Given the description of an element on the screen output the (x, y) to click on. 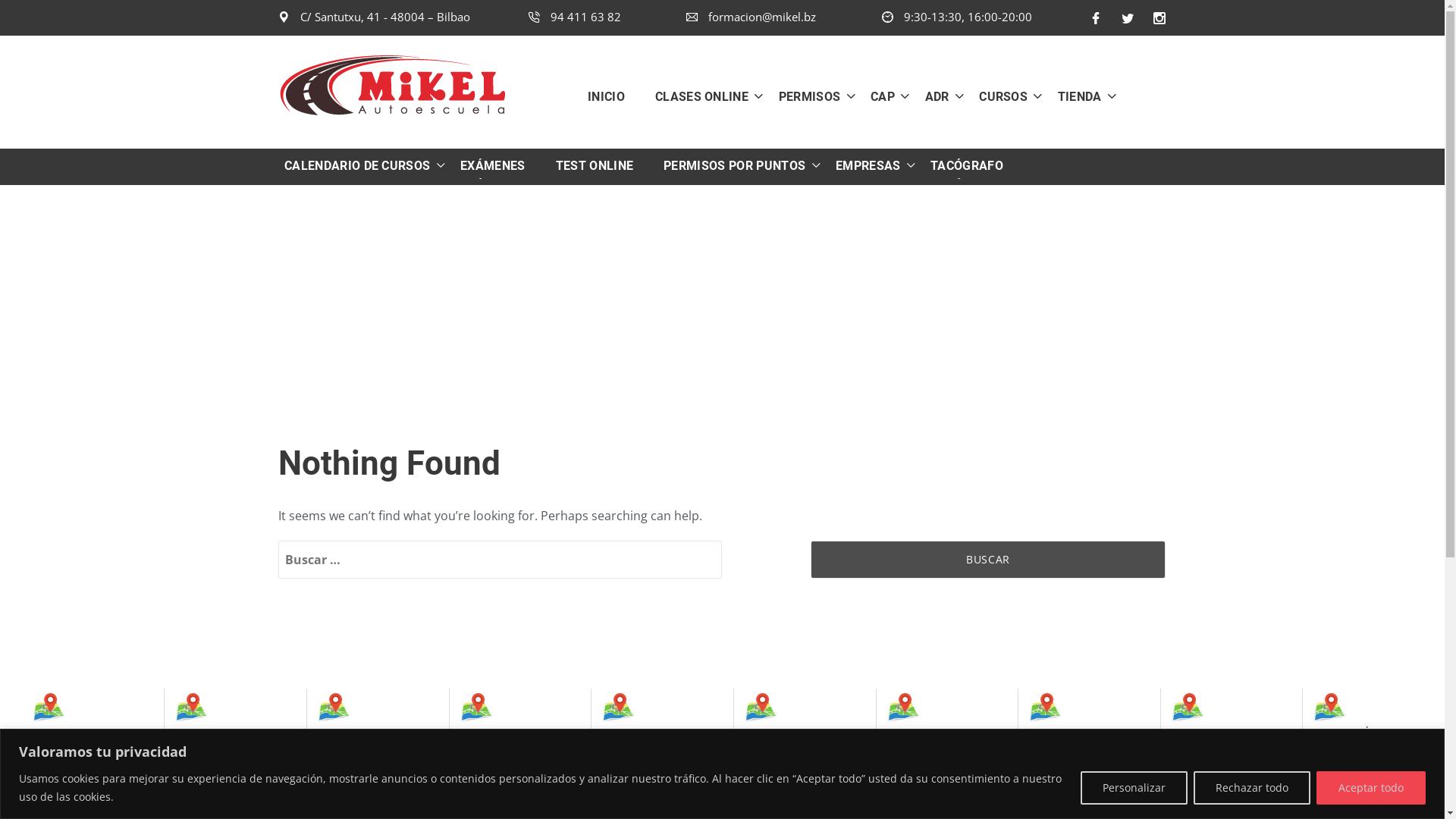
KARMELO
Particular de Arsuaga, 1
Bilbao 48004 Element type: text (224, 739)
944010800 Element type: text (919, 783)
ETXEBARRI
Sabino Arana, 8
Etxebarri 48450 Element type: text (651, 733)
ADR Element type: text (931, 96)
BASAURI
Nagusia, 19
Basauri 48970 Element type: text (793, 733)
TEST ONLINE Element type: text (594, 165)
946018585 Element type: text (634, 783)
944572275 Element type: text (1061, 796)
CAP Element type: text (876, 96)
TXURDINAGA
Txomin Garat, 12
Bilbao 48004 Element type: text (366, 733)
946568989 Element type: text (492, 796)
PERMISOS POR PUNTOS Element type: text (728, 165)
MIRIBILLA
Jardines de Gernika, 3
Bilbao 48003 Element type: text (509, 739)
INICIO Element type: text (613, 96)
CLASES ONLINE Element type: text (695, 96)
944732700 Element type: text (349, 783)
CALENDARIO DE CURSOS Element type: text (358, 165)
TIENDA Element type: text (1073, 96)
944263434 Element type: text (776, 783)
formacion@mikel.bz Element type: text (750, 16)
944110428 Element type: text (207, 796)
DERIO
Mungialde Etorbidea, 4
Derio 48160 Element type: text (1220, 739)
Buscar Element type: text (987, 559)
BASAURI
Kareaga Goikoa, 42
Basauri 48970 Element type: text (936, 733)
94 411 63 82 Element type: text (573, 16)
PERMISOS Element type: text (803, 96)
944542716 Element type: text (1203, 796)
CURSOS Element type: text (996, 96)
EMPRESAS Element type: text (861, 165)
944116382 Element type: text (64, 783)
SANTUTXU
Santutxu 41
Bilbao 48004 Element type: text (81, 733)
GALDAKAO
Juan Bautista Uriarte, 4
Galdakao 48960 Element type: text (1078, 739)
